Given the description of an element on the screen output the (x, y) to click on. 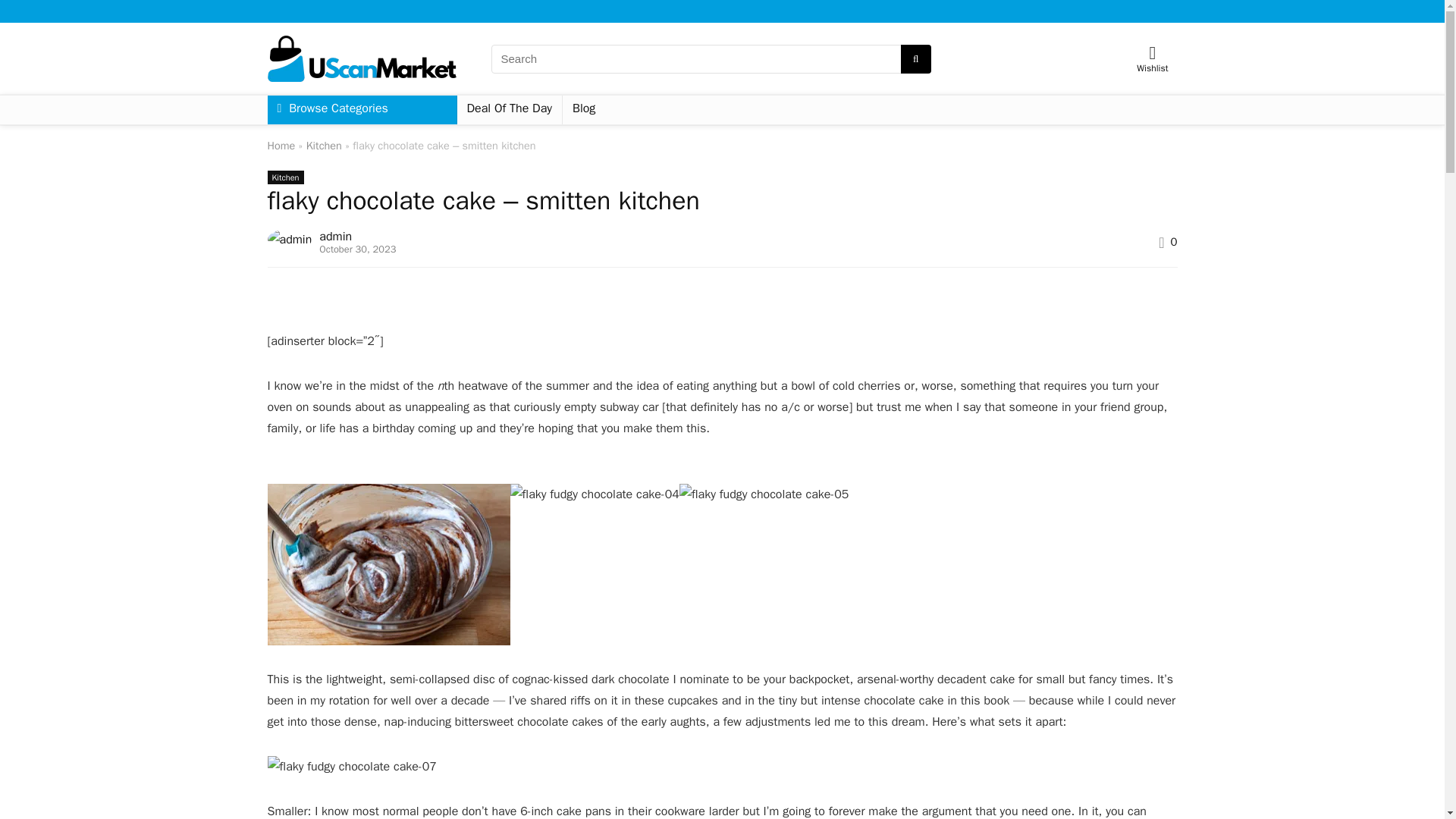
Home (280, 145)
admin (335, 236)
Kitchen (284, 177)
Kitchen (323, 145)
View all posts in Kitchen (284, 177)
Blog (583, 109)
Browse Categories (331, 109)
Deal Of The Day (509, 109)
